Given the description of an element on the screen output the (x, y) to click on. 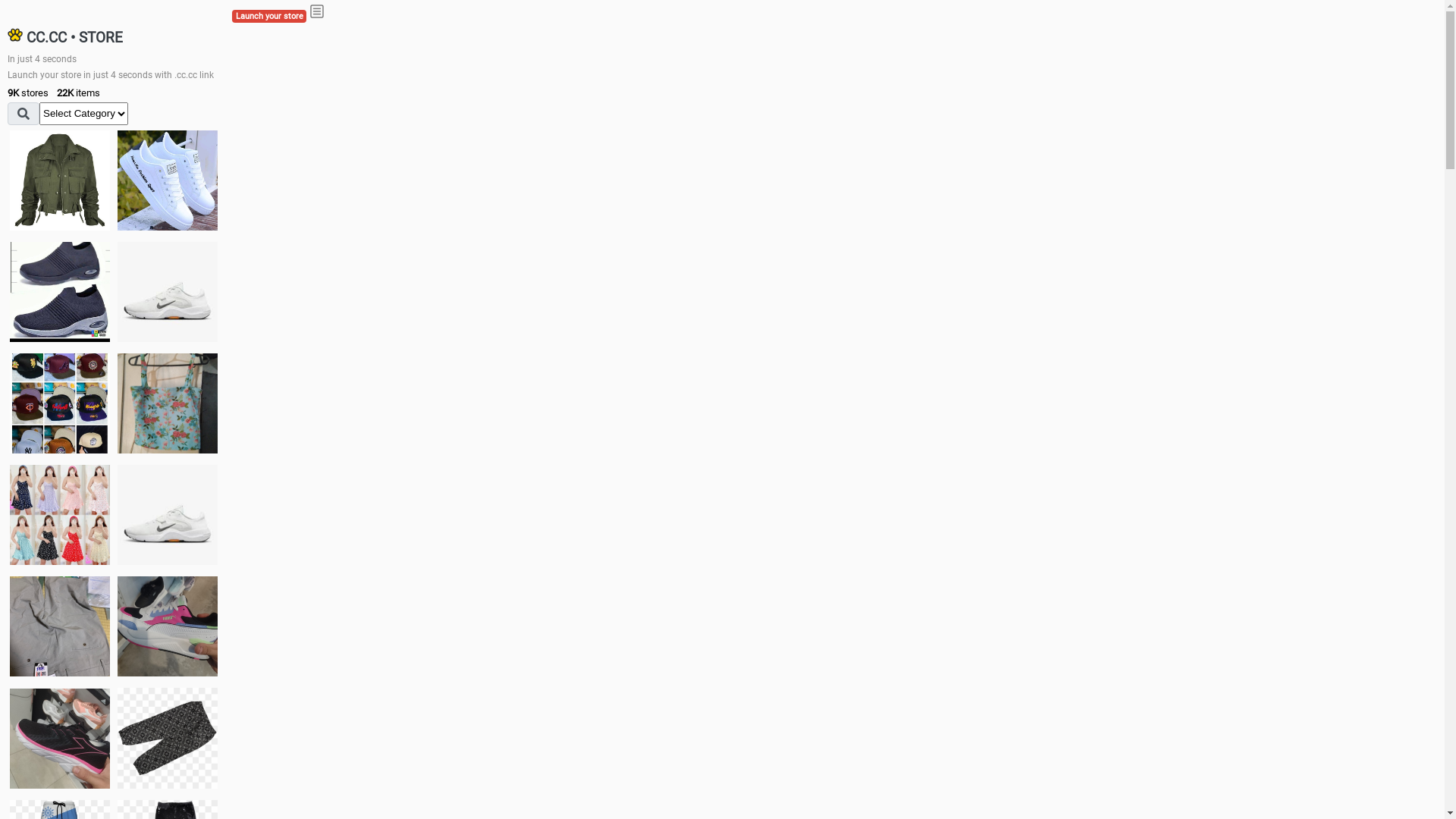
Short pant Element type: hover (167, 737)
shoes for boys Element type: hover (59, 291)
Zapatillas Element type: hover (59, 738)
Shoes for boys Element type: hover (167, 291)
Ukay cloth Element type: hover (167, 403)
Shoes Element type: hover (167, 514)
Zapatillas pumas Element type: hover (167, 626)
white shoes Element type: hover (167, 180)
jacket Element type: hover (59, 180)
Things we need Element type: hover (59, 403)
Launch your store Element type: text (269, 15)
Dress/square nect top Element type: hover (59, 514)
